Given the description of an element on the screen output the (x, y) to click on. 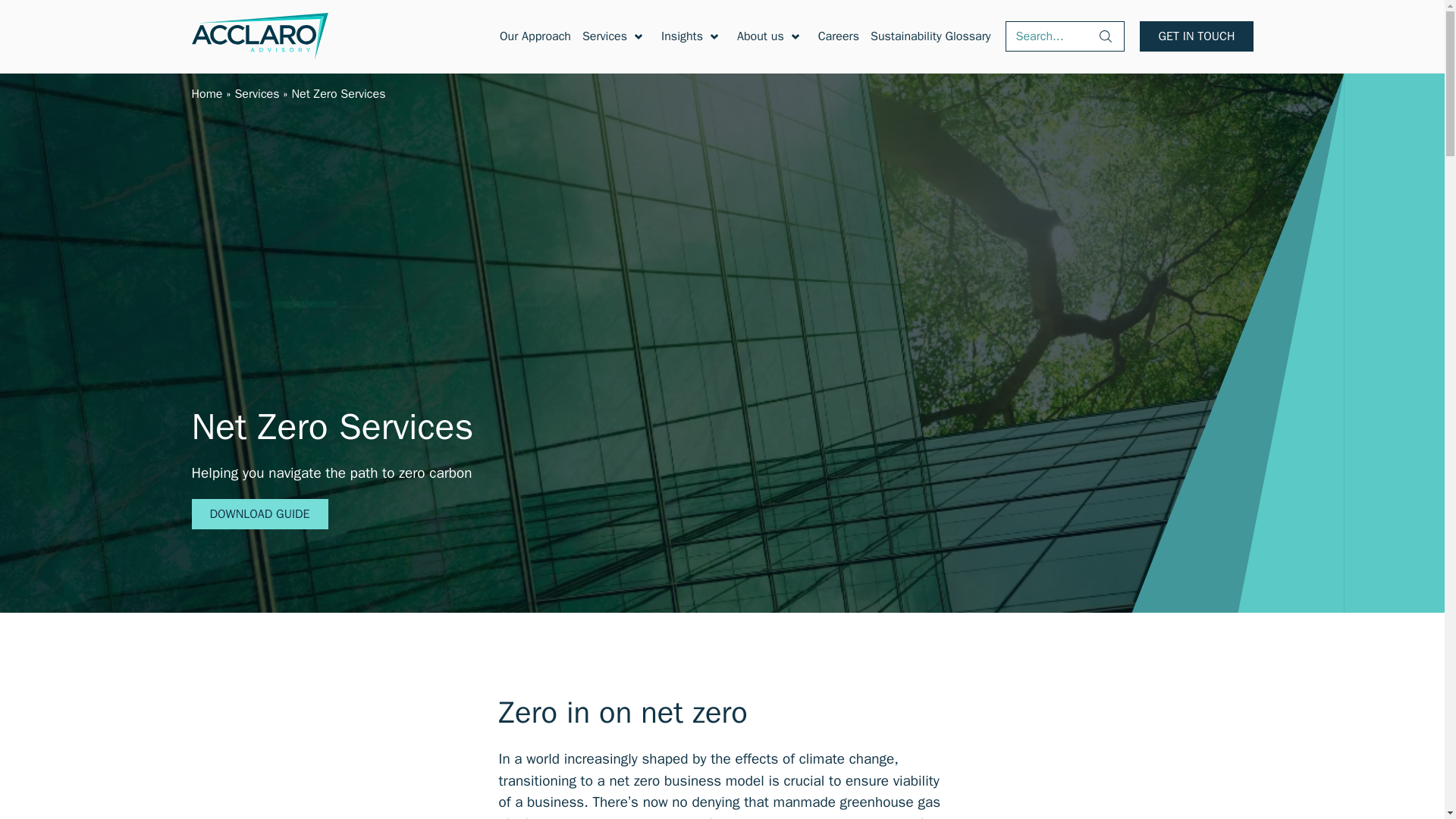
Insights (682, 36)
Services (604, 36)
GET IN TOUCH (1196, 36)
Careers (838, 36)
Sustainability Glossary (930, 36)
Services (256, 93)
About us (760, 36)
Our Approach (534, 36)
Home (206, 93)
DOWNLOAD GUIDE (258, 513)
